Given the description of an element on the screen output the (x, y) to click on. 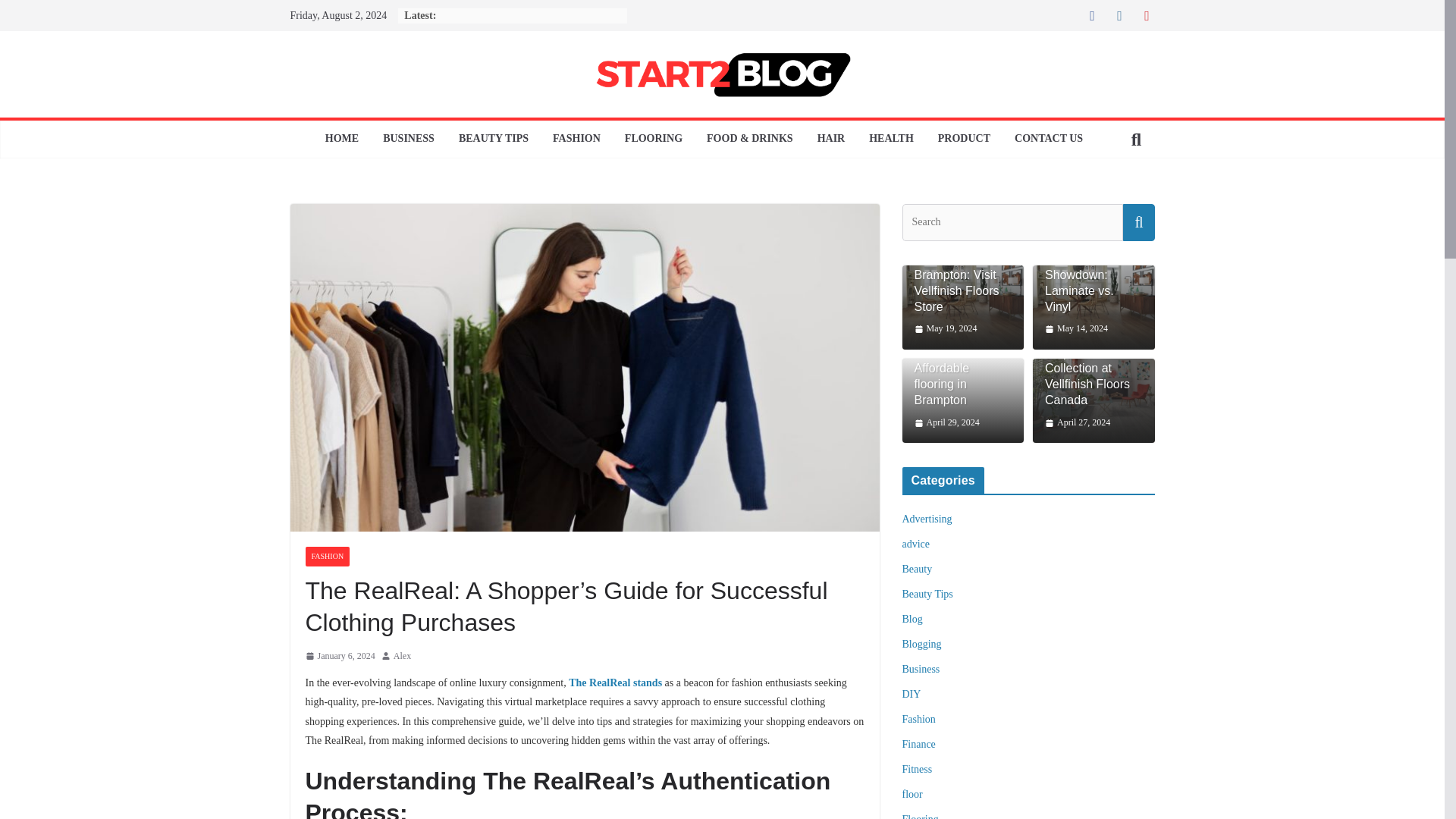
Alex (401, 656)
Waterproof Flooring Showdown: Laminate vs. Vinyl (1093, 307)
Alex (401, 656)
BEAUTY TIPS (493, 138)
FLOORING (653, 138)
HAIR (830, 138)
FASHION (576, 138)
HEALTH (891, 138)
PRODUCT (963, 138)
BUSINESS (407, 138)
